Given the description of an element on the screen output the (x, y) to click on. 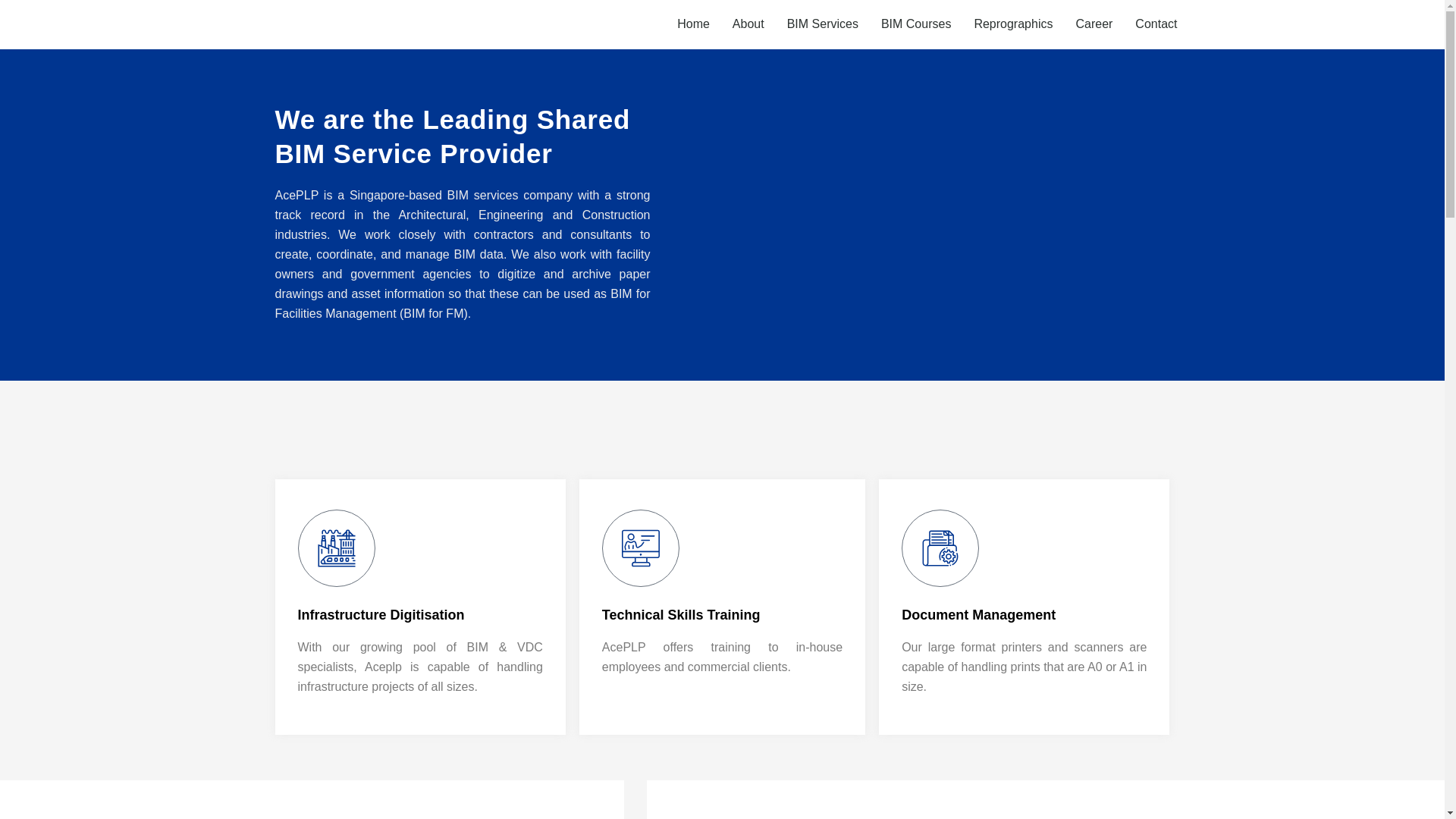
BIM Courses (915, 24)
Home (693, 24)
About (748, 24)
Career (1093, 24)
Contact (1155, 24)
BIM Services (823, 24)
Reprographics (1013, 24)
